Given the description of an element on the screen output the (x, y) to click on. 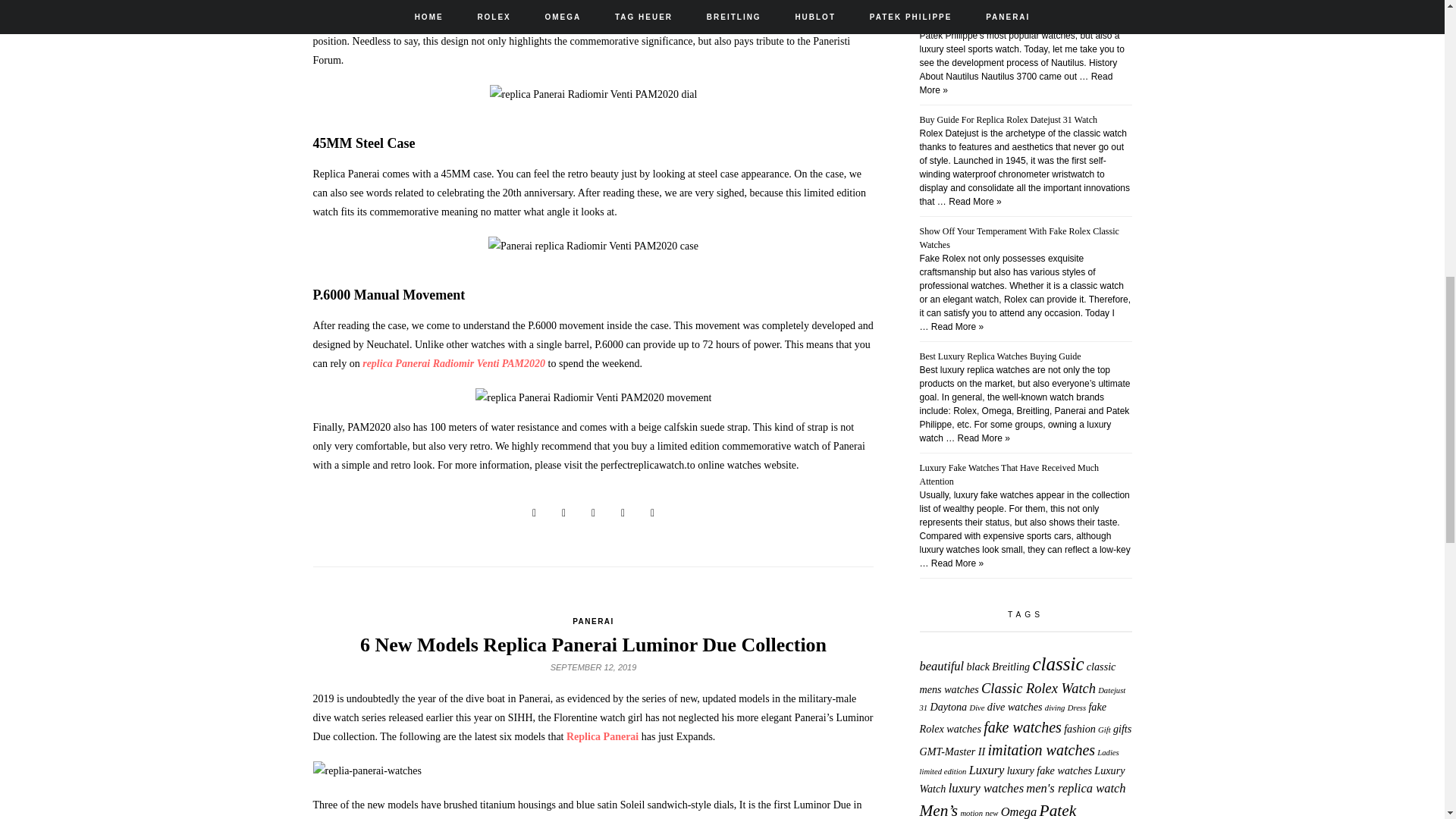
Replica Panerai (602, 736)
Permalink to Buy Guide For Replica Rolex Datejust 31 Watch (1008, 119)
replica Panerai Radiomir Venti PAM2020 (453, 363)
PANERAI (593, 621)
6 New Models Replica Panerai Luminor Due Collection (593, 644)
6 New Models Replica Panerai Luminor Due Collection (593, 644)
